Given the description of an element on the screen output the (x, y) to click on. 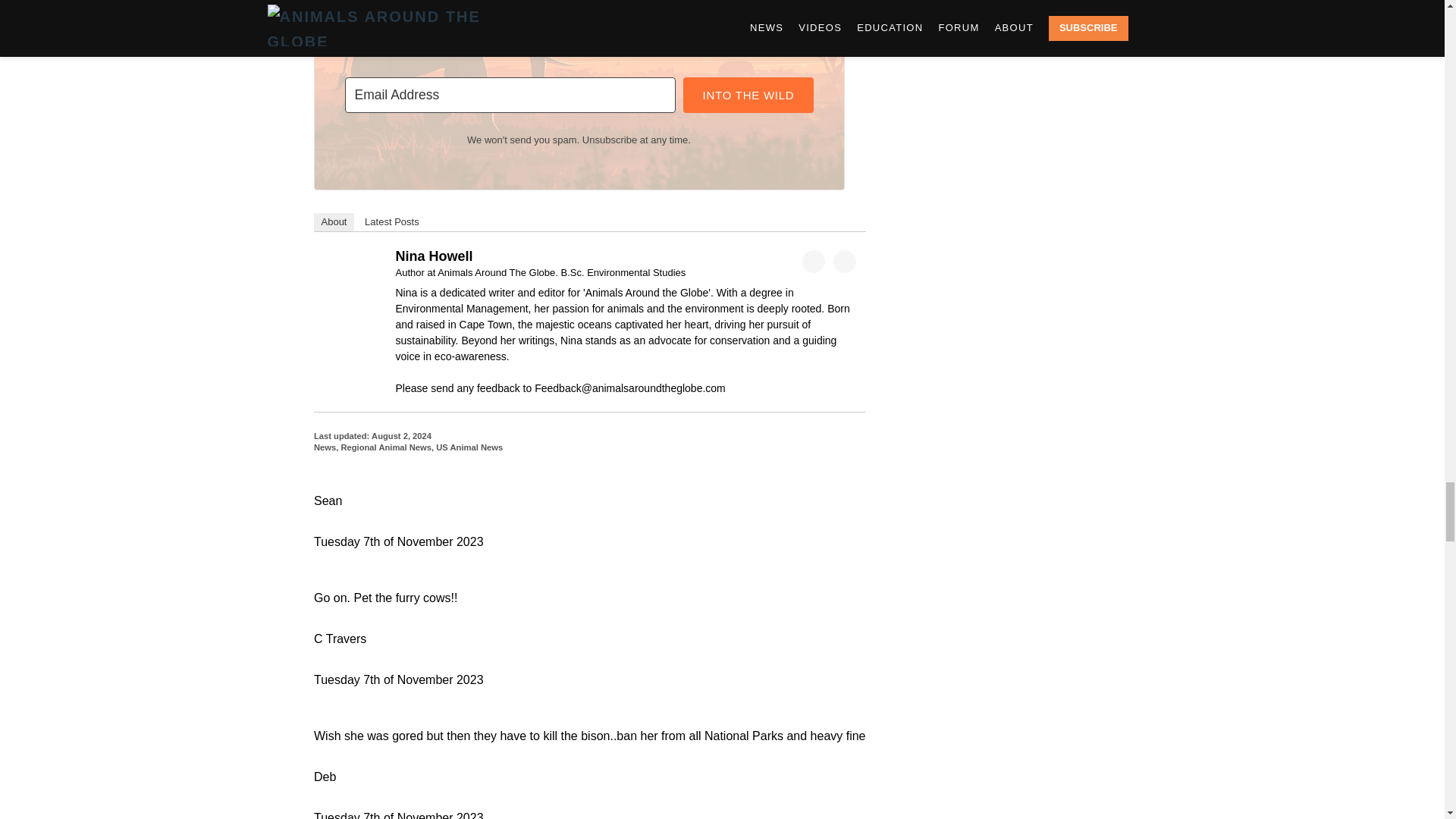
Email (844, 260)
Nina Howell (353, 263)
LinkedIn (813, 260)
